Given the description of an element on the screen output the (x, y) to click on. 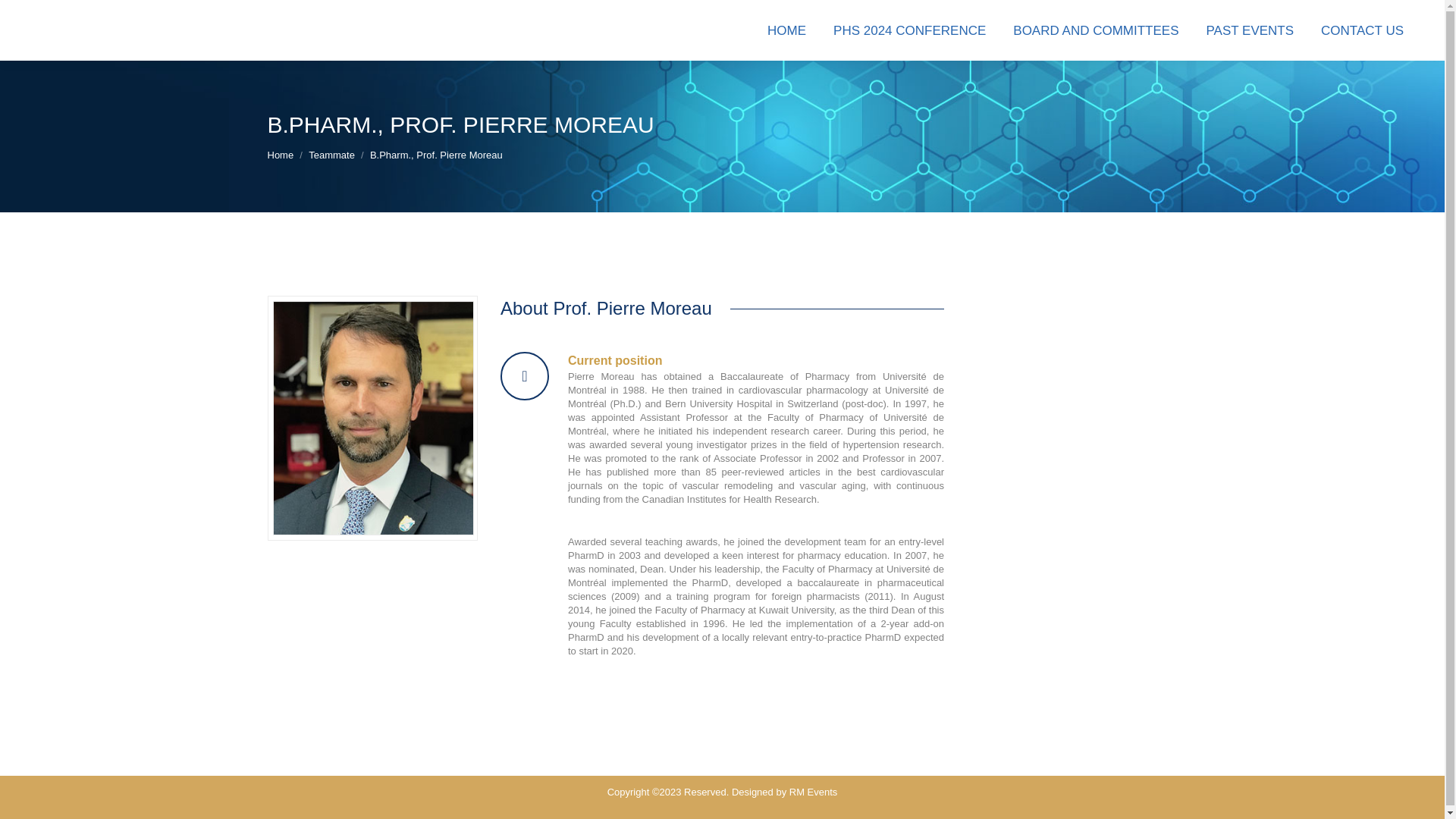
PHS 2024 CONFERENCE (908, 29)
PAST EVENTS (1249, 29)
BOARD AND COMMITTEES (1095, 29)
HOME (786, 29)
CONTACT US (1361, 29)
